Given the description of an element on the screen output the (x, y) to click on. 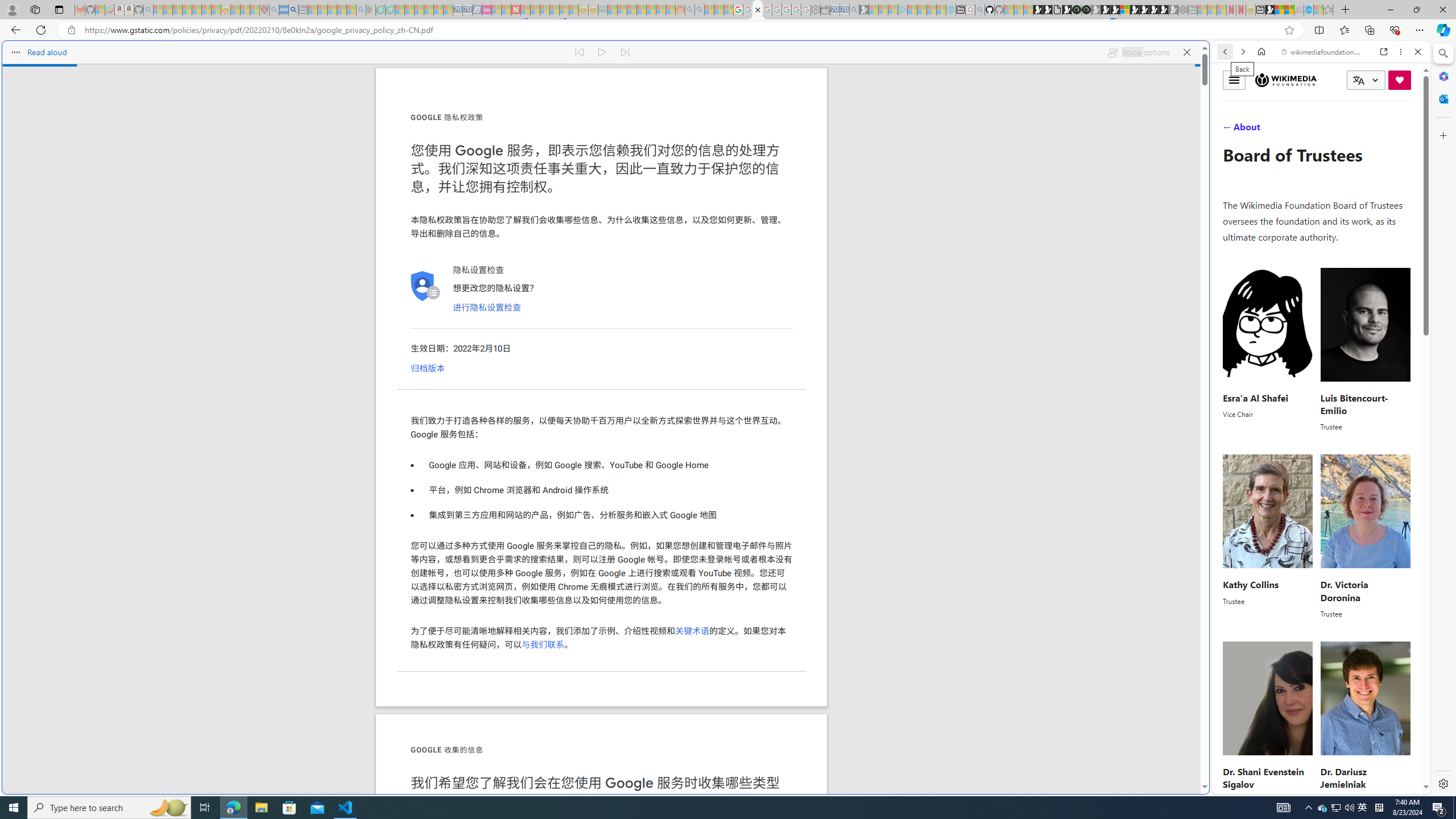
Luis Bitencourt-EmilioTrustee (1365, 349)
Close read aloud (1186, 52)
Kathy CollinsTrustee (1268, 536)
utah sues federal government - Search (922, 389)
